Given the description of an element on the screen output the (x, y) to click on. 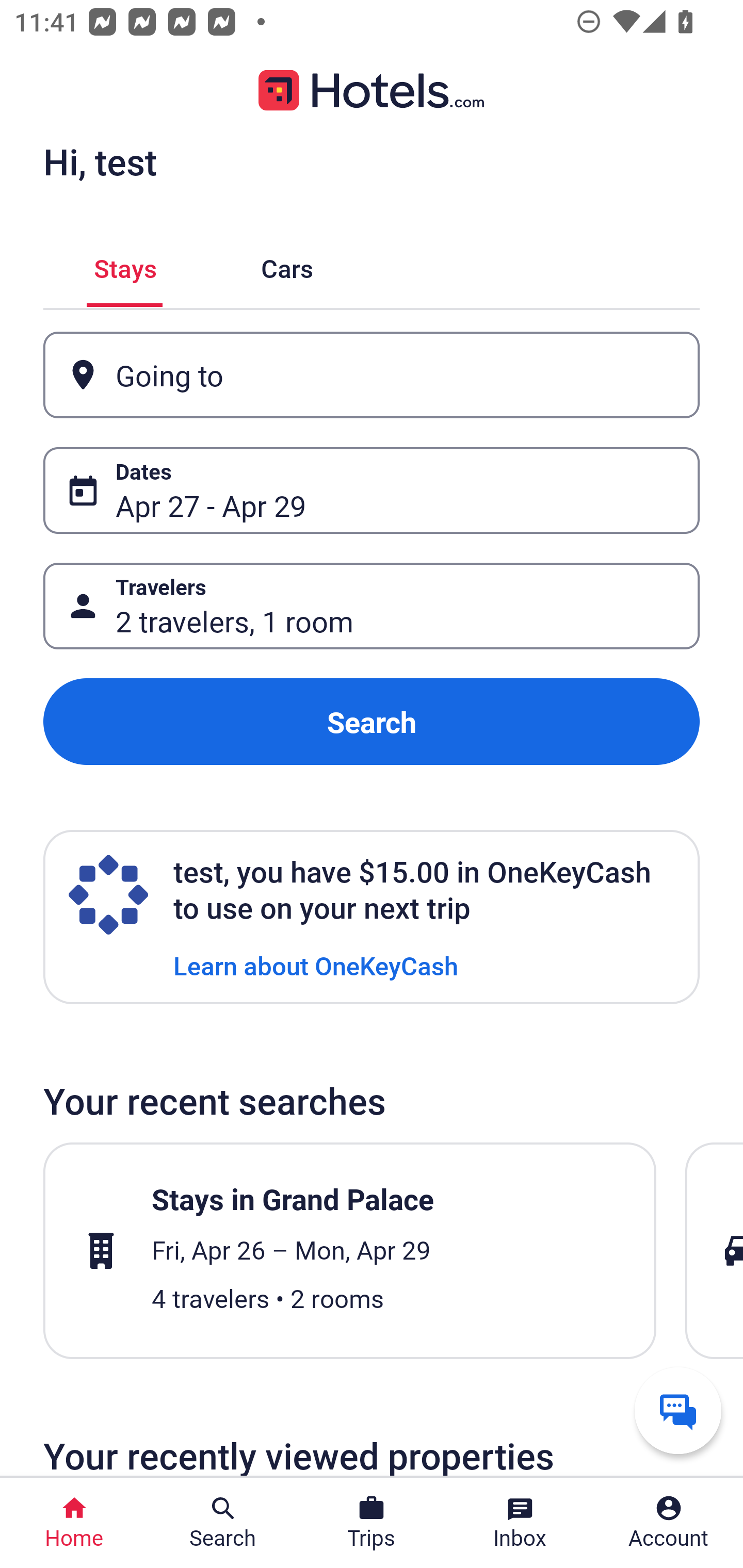
Hi, test (99, 161)
Cars (286, 265)
Going to Button (371, 375)
Dates Button Apr 27 - Apr 29 (371, 489)
Travelers Button 2 travelers, 1 room (371, 605)
Search (371, 721)
Learn about OneKeyCash Learn about OneKeyCash Link (315, 964)
Get help from a virtual agent (677, 1410)
Search Search Button (222, 1522)
Trips Trips Button (371, 1522)
Inbox Inbox Button (519, 1522)
Account Profile. Button (668, 1522)
